Given the description of an element on the screen output the (x, y) to click on. 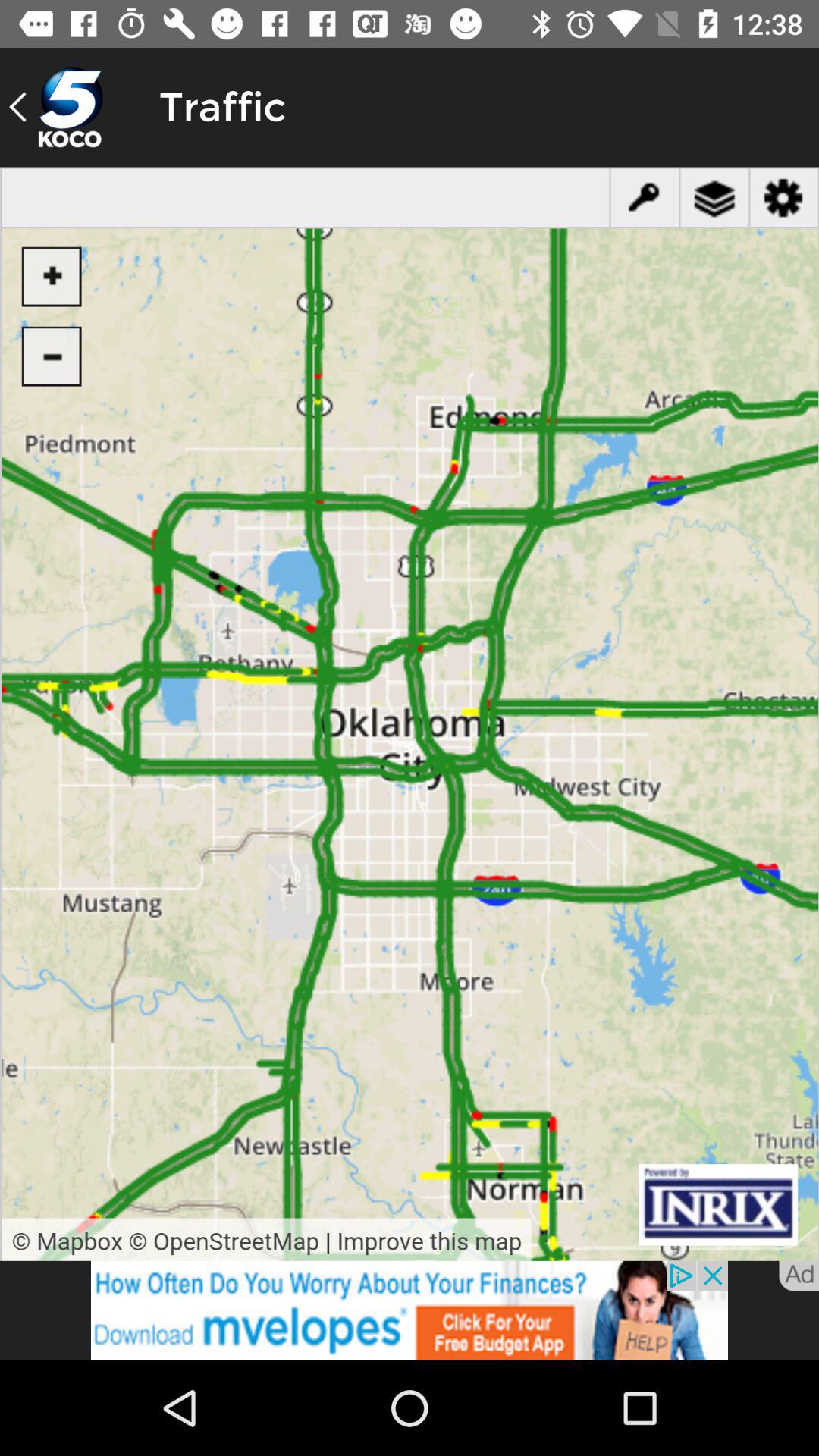
click advertisement (409, 1310)
